Given the description of an element on the screen output the (x, y) to click on. 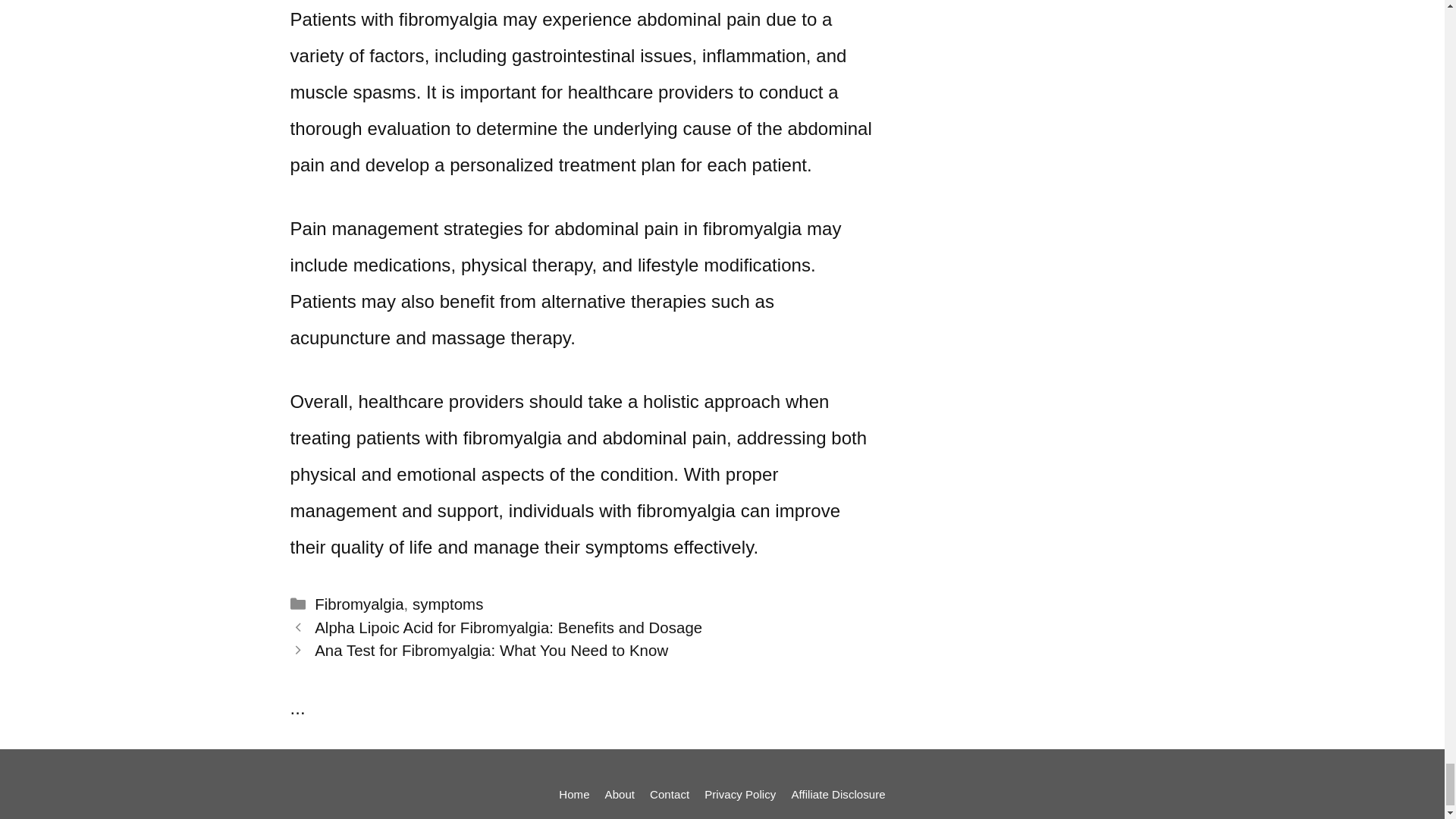
Home (574, 793)
symptoms (447, 604)
Fibromyalgia (358, 604)
Affiliate Disclosure (837, 793)
Contact (668, 793)
Alpha Lipoic Acid for Fibromyalgia: Benefits and Dosage (507, 627)
Privacy Policy (740, 793)
About (619, 793)
Ana Test for Fibromyalgia: What You Need to Know (491, 650)
